Given the description of an element on the screen output the (x, y) to click on. 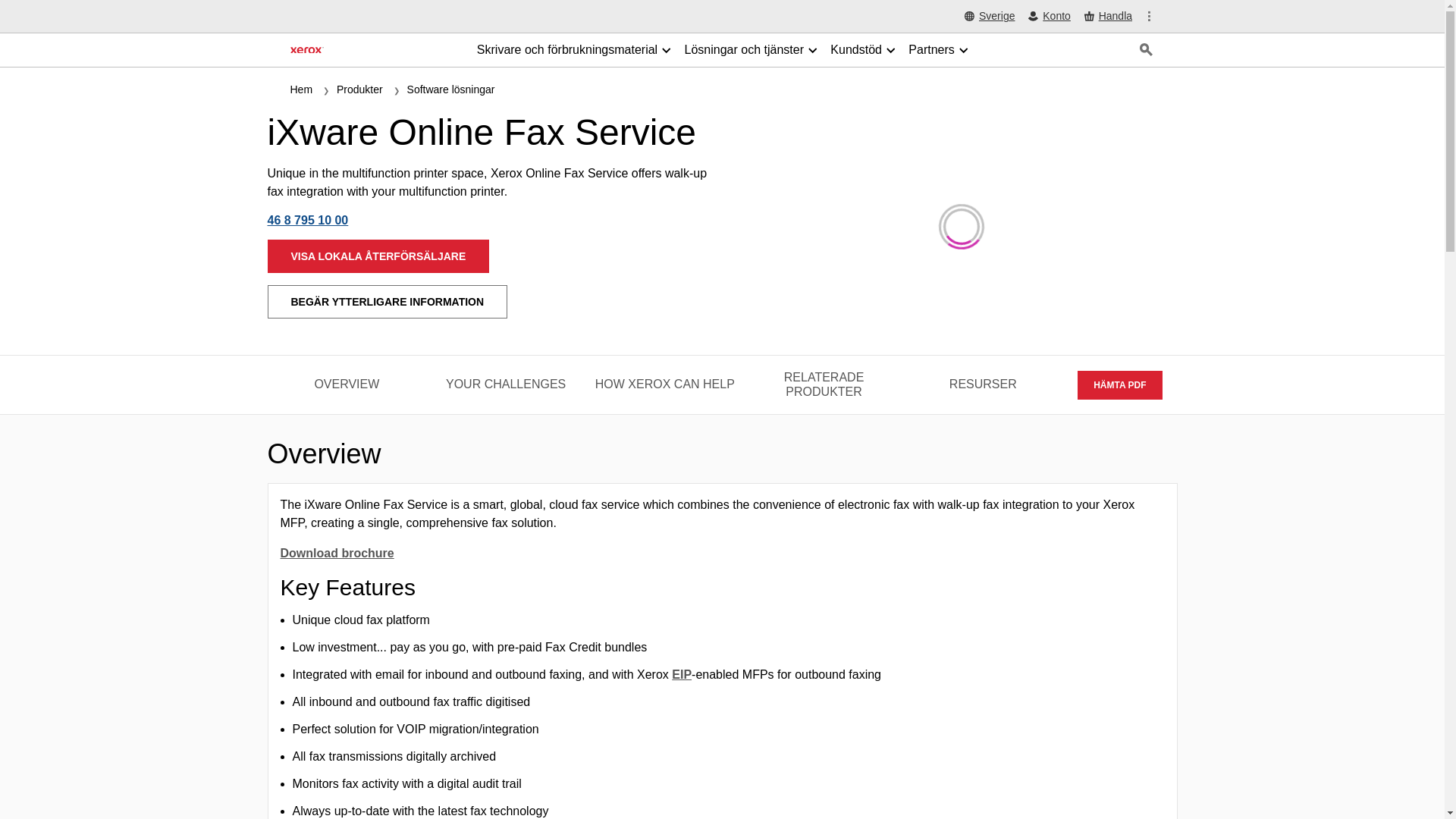
Handla (1108, 16)
Konto (1048, 16)
Sverige (988, 16)
